Given the description of an element on the screen output the (x, y) to click on. 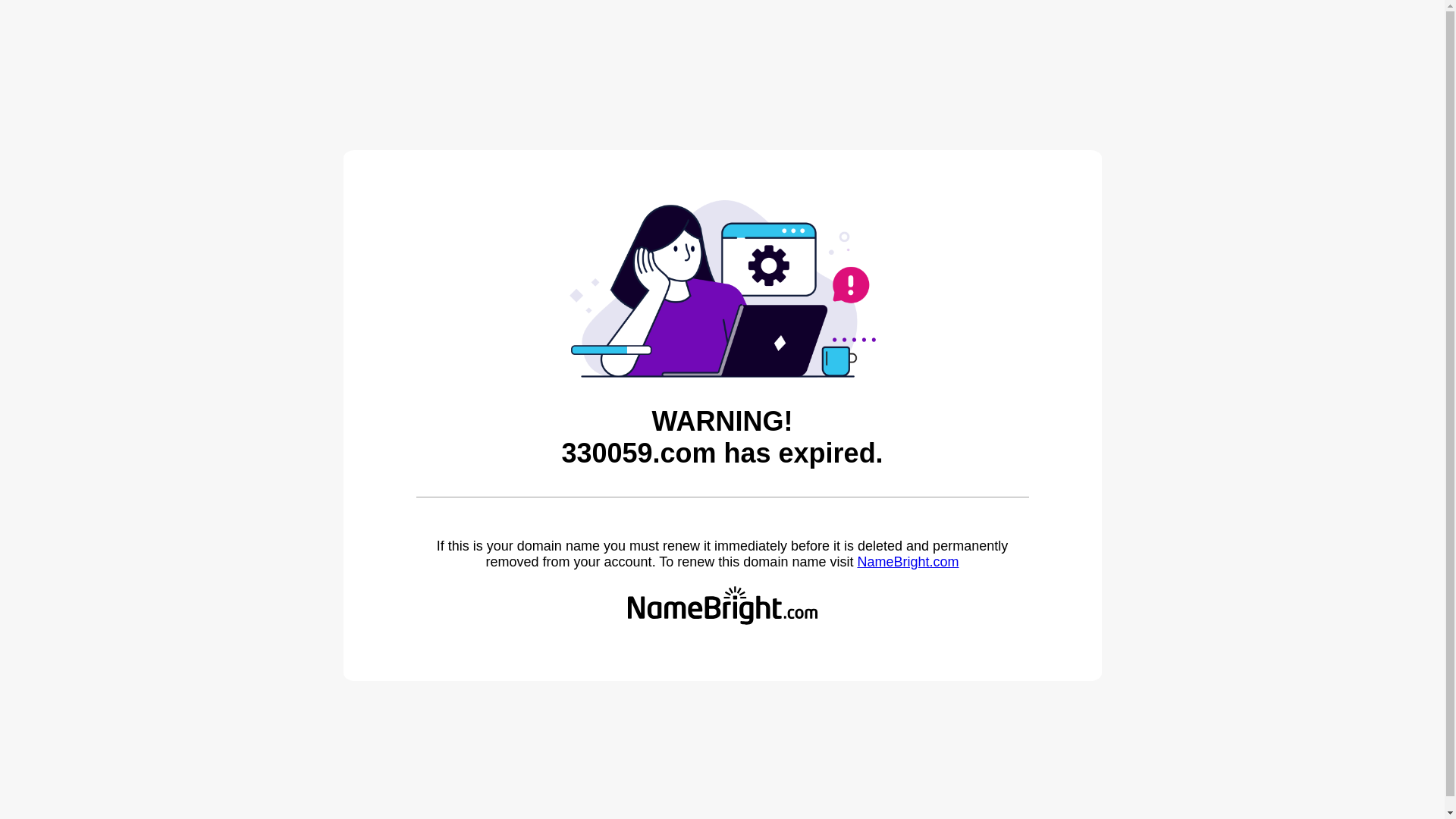
NameBright.com Element type: text (907, 561)
